Given the description of an element on the screen output the (x, y) to click on. 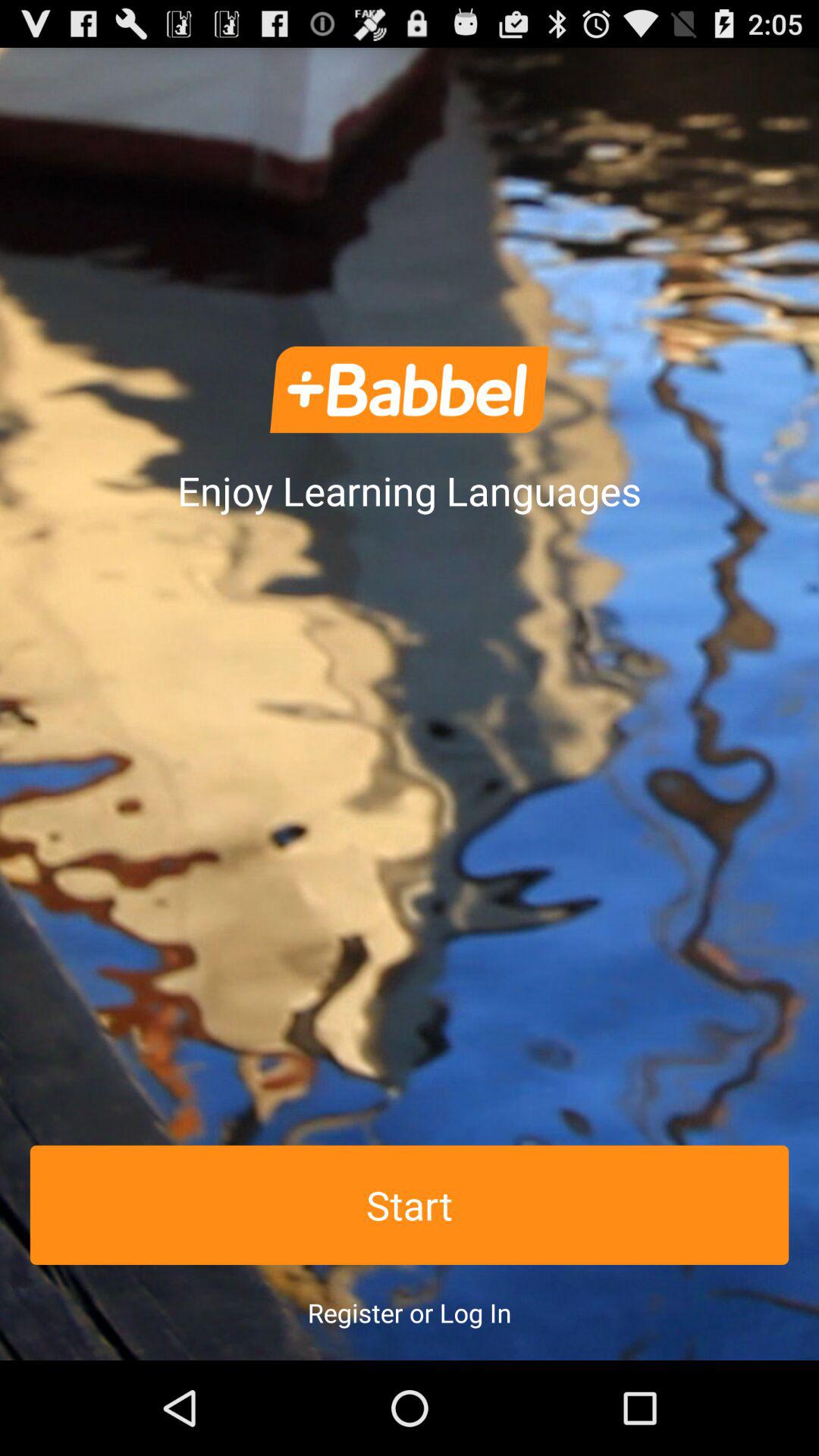
launch icon below start item (409, 1312)
